Given the description of an element on the screen output the (x, y) to click on. 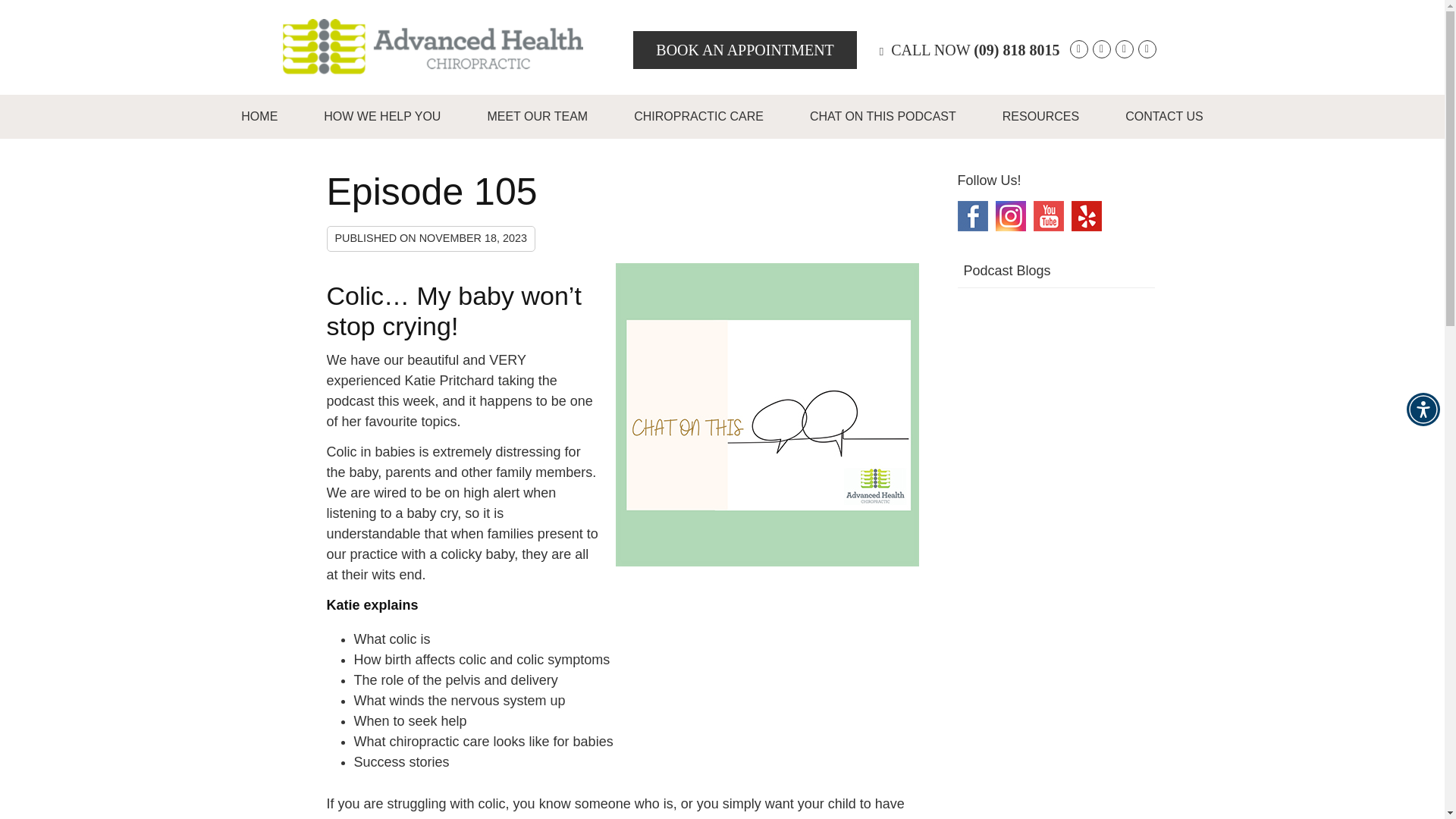
MEET OUR TEAM (537, 116)
Accessibility Menu (1422, 409)
CHIROPRACTIC CARE (699, 116)
BOOK AN APPOINTMENT (744, 49)
Youtube Social Button (1146, 49)
RESOURCES (1040, 116)
HOME (259, 116)
Instagram Social Link (1009, 215)
Facebook Social Link (971, 215)
Google Social Button (1077, 49)
